Given the description of an element on the screen output the (x, y) to click on. 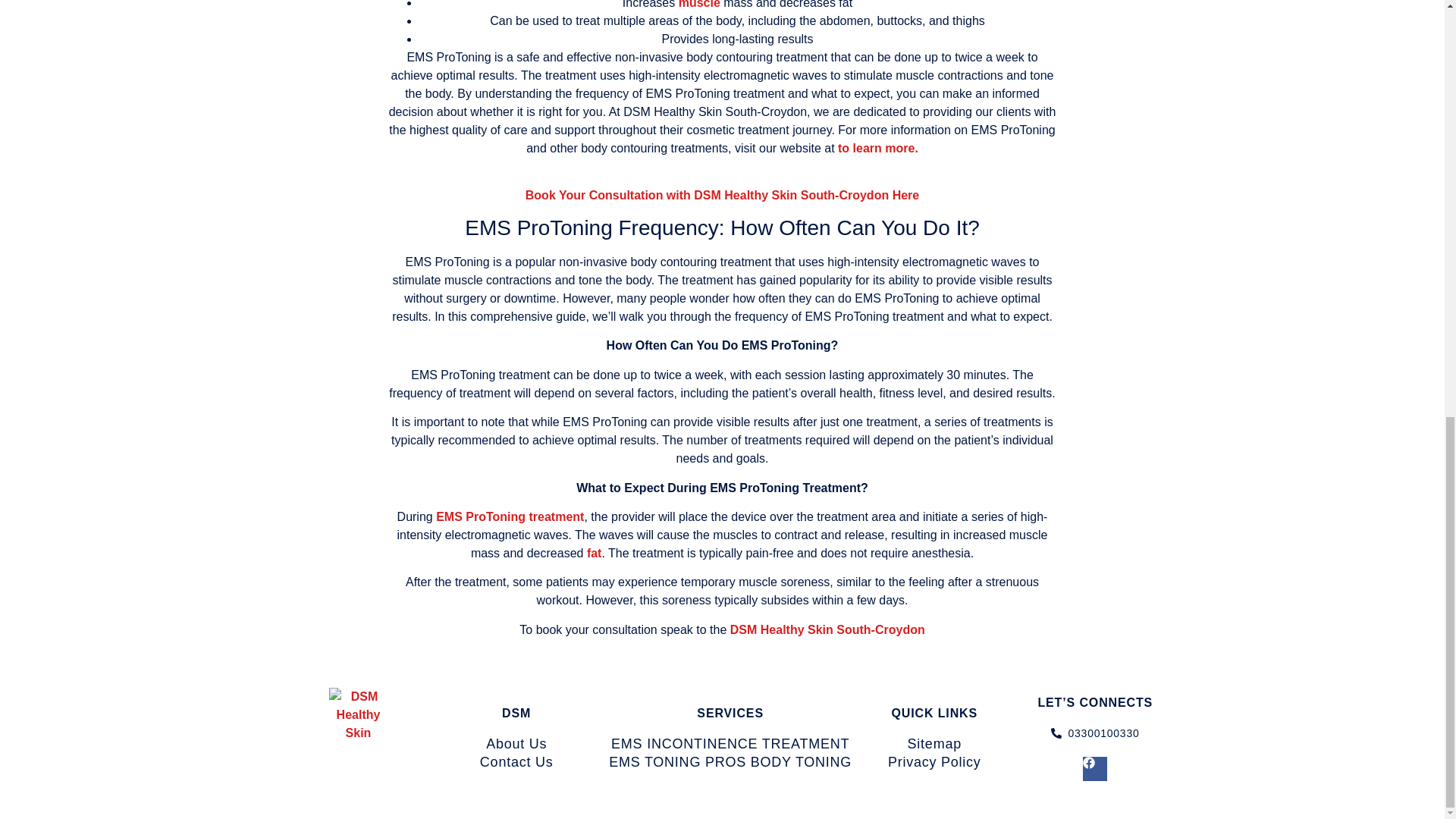
to learn more. (878, 147)
About Us (516, 743)
muscle (699, 4)
Contact Us (516, 761)
EMS INCONTINENCE TREATMENT (730, 743)
Privacy Policy (933, 761)
EMS ProToning treatment (509, 516)
muscle (699, 4)
fat (594, 553)
03300100330 (1094, 733)
DSM Healthy Skin South-Croydon (827, 629)
Sitemap (933, 743)
EMS TONING PROS BODY TONING (730, 761)
fat (594, 553)
